Given the description of an element on the screen output the (x, y) to click on. 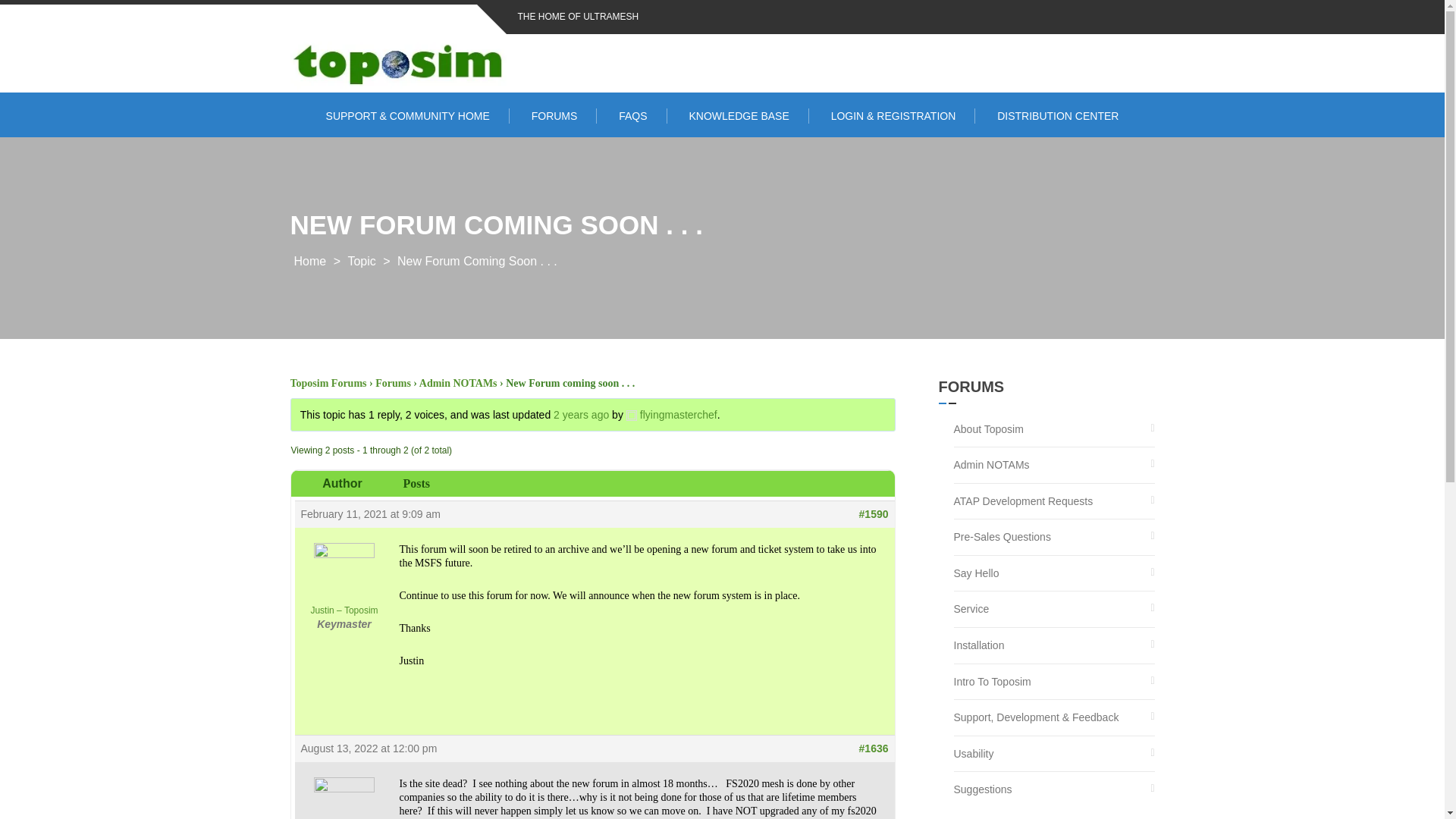
Home (309, 260)
Suggestions (982, 789)
FORUMS (554, 115)
Admin NOTAMs (991, 465)
flyingmasterchef (671, 414)
Usability (973, 754)
Service (971, 609)
About Toposim (988, 429)
2 years ago (580, 414)
Toposim Forums (327, 383)
